Given the description of an element on the screen output the (x, y) to click on. 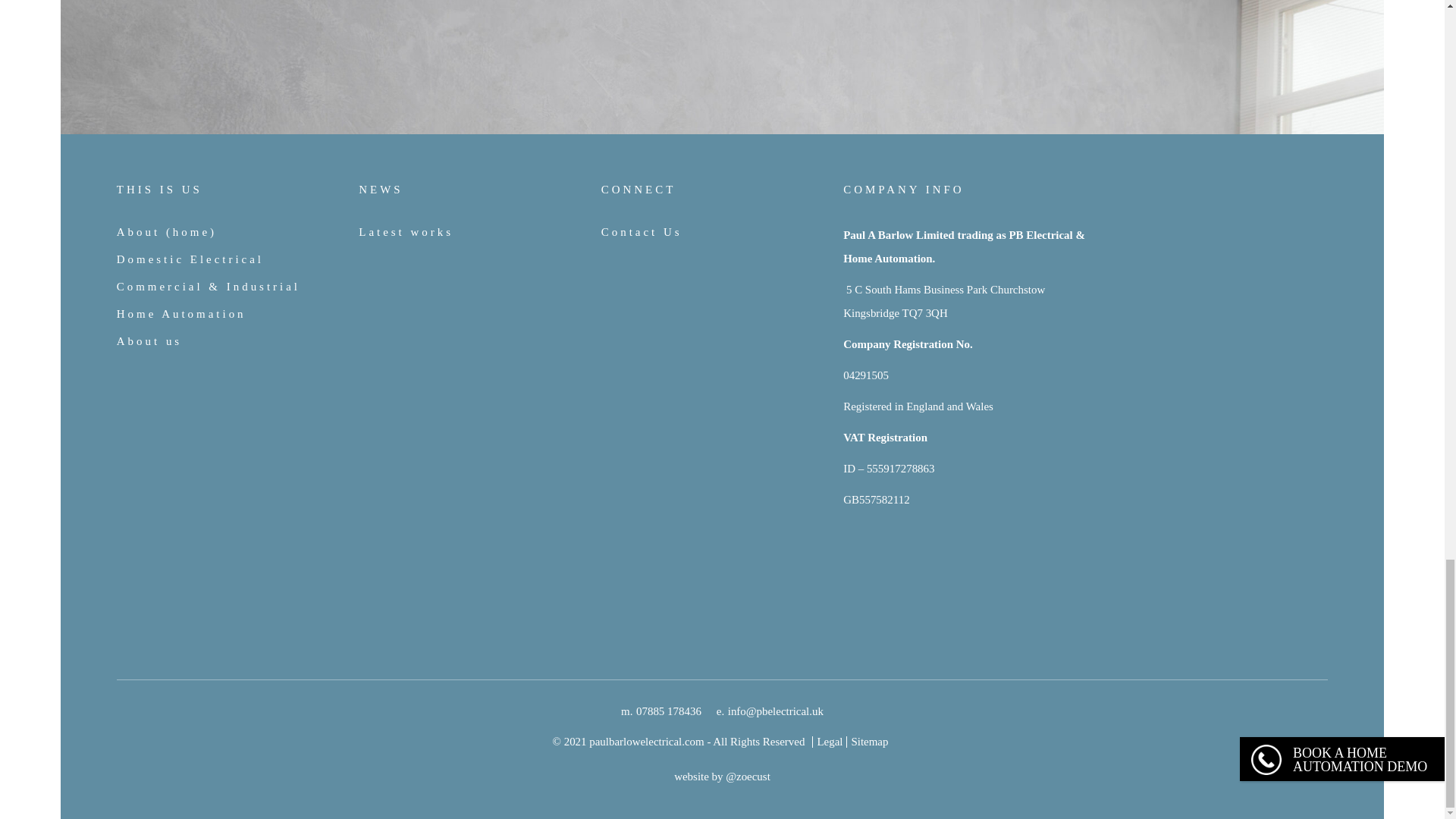
About us (149, 340)
07885 178436 (668, 711)
Latest works (405, 232)
Contact Us (641, 232)
instagram (167, 531)
Domestic Electrical (189, 259)
Home Automation (181, 313)
